Given the description of an element on the screen output the (x, y) to click on. 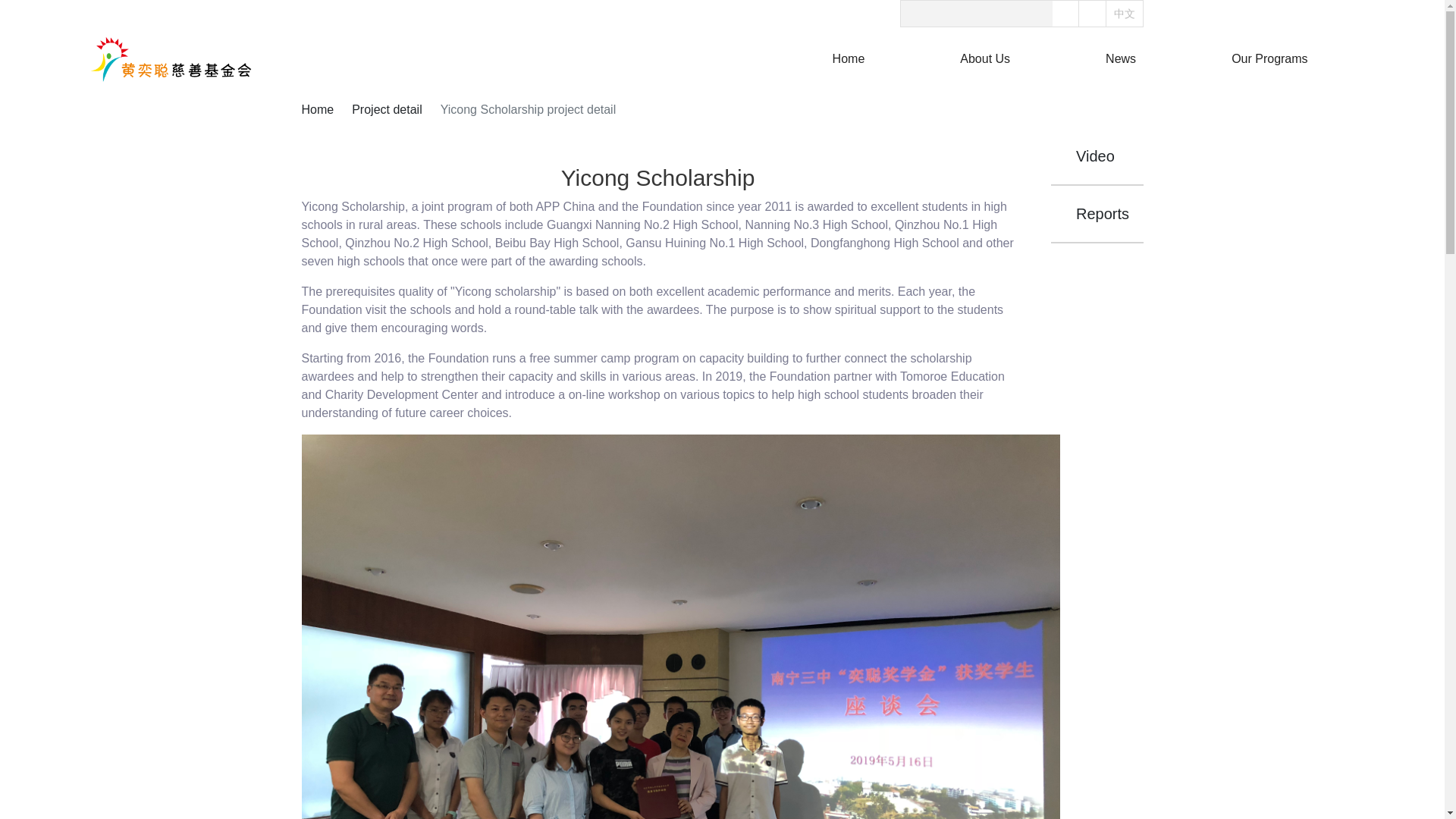
Home (317, 109)
Our Programs (1269, 59)
News (1119, 59)
Home (849, 59)
About Us (984, 59)
